Given the description of an element on the screen output the (x, y) to click on. 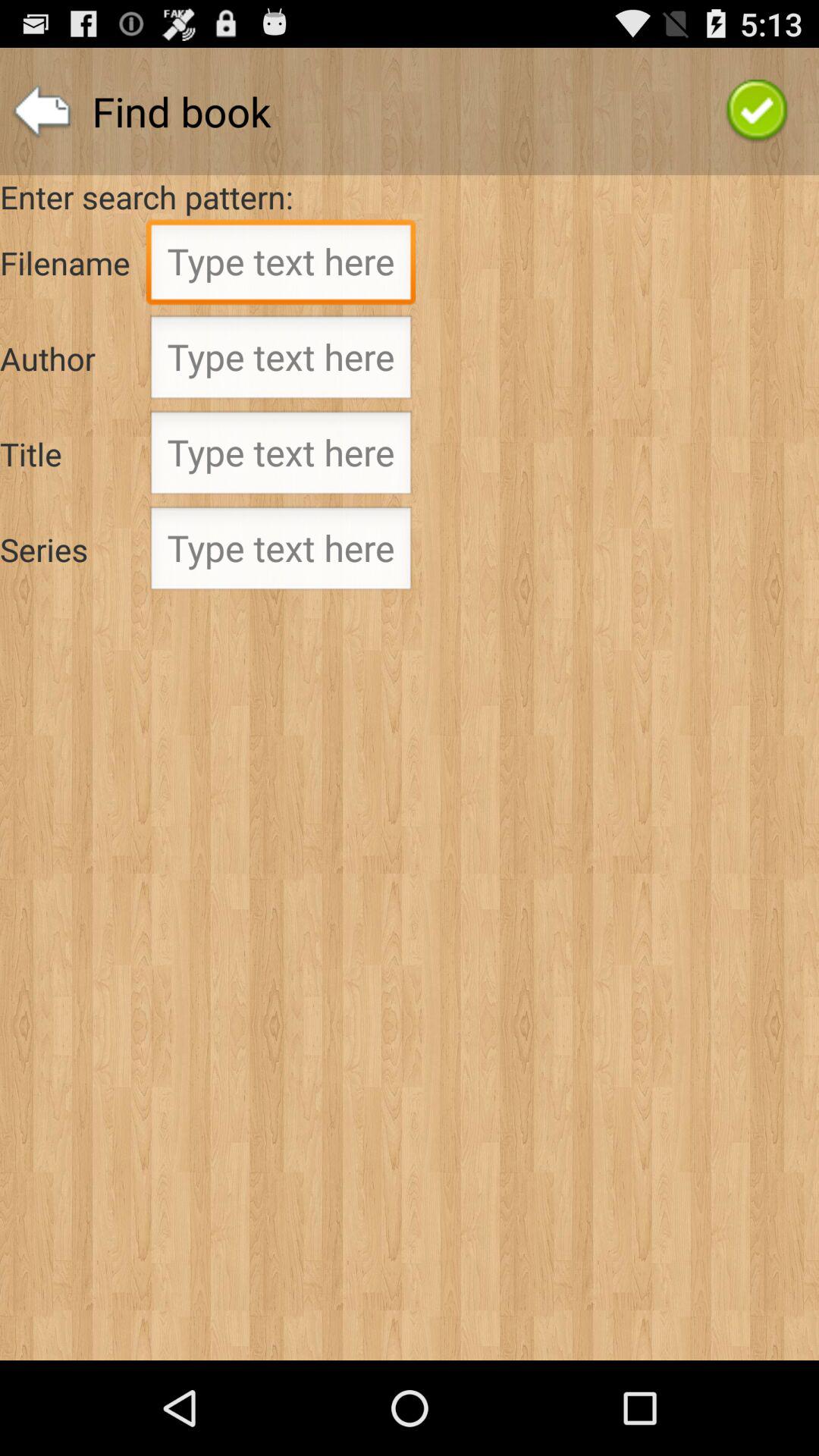
find by author (280, 361)
